Given the description of an element on the screen output the (x, y) to click on. 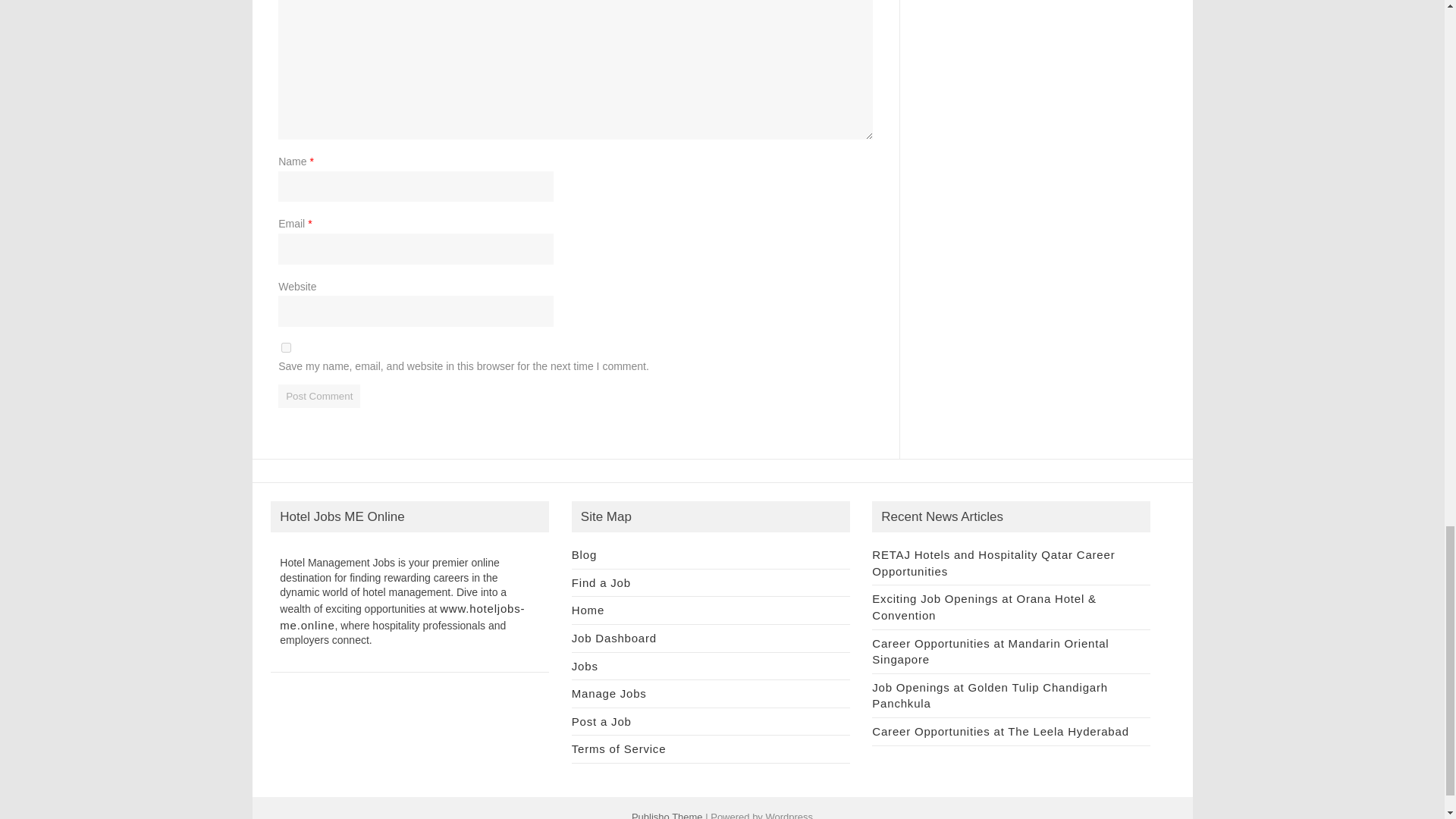
Post Comment (318, 395)
Post Comment (318, 395)
yes (286, 347)
